Given the description of an element on the screen output the (x, y) to click on. 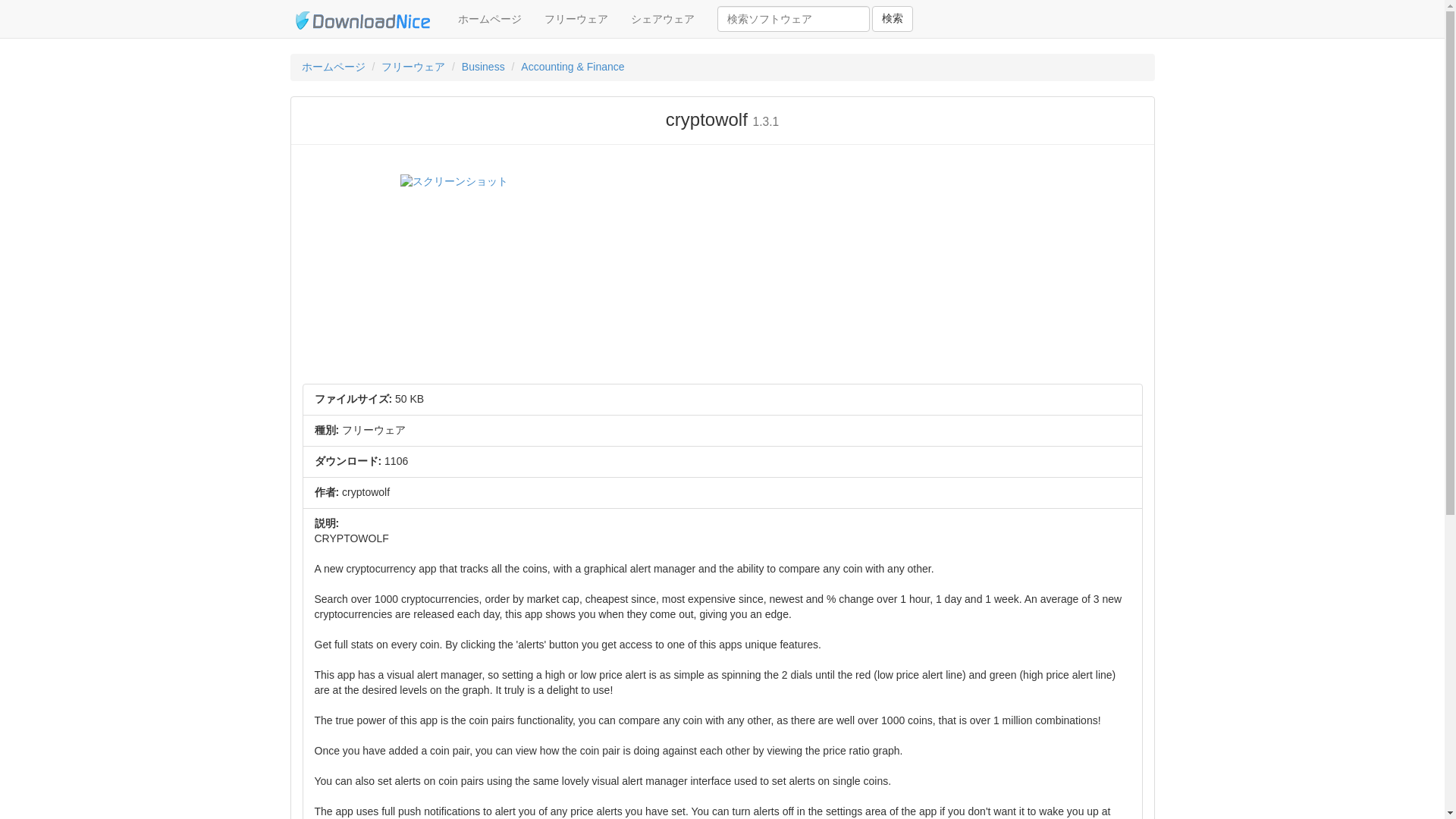
Business (483, 66)
Advertisement (937, 277)
